Given the description of an element on the screen output the (x, y) to click on. 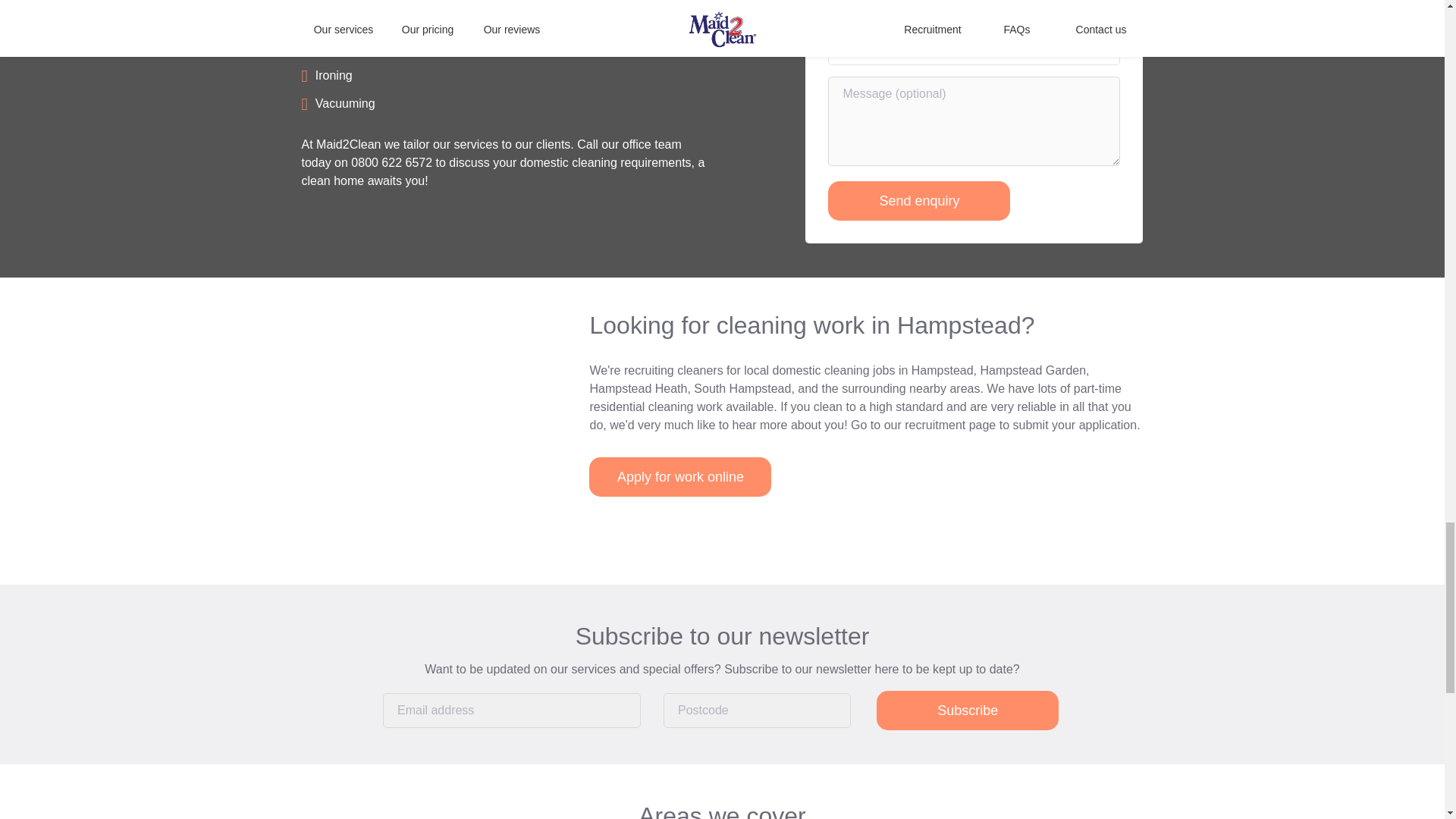
Apply for work online (680, 476)
Send enquiry (919, 200)
Subscribe (967, 710)
